Given the description of an element on the screen output the (x, y) to click on. 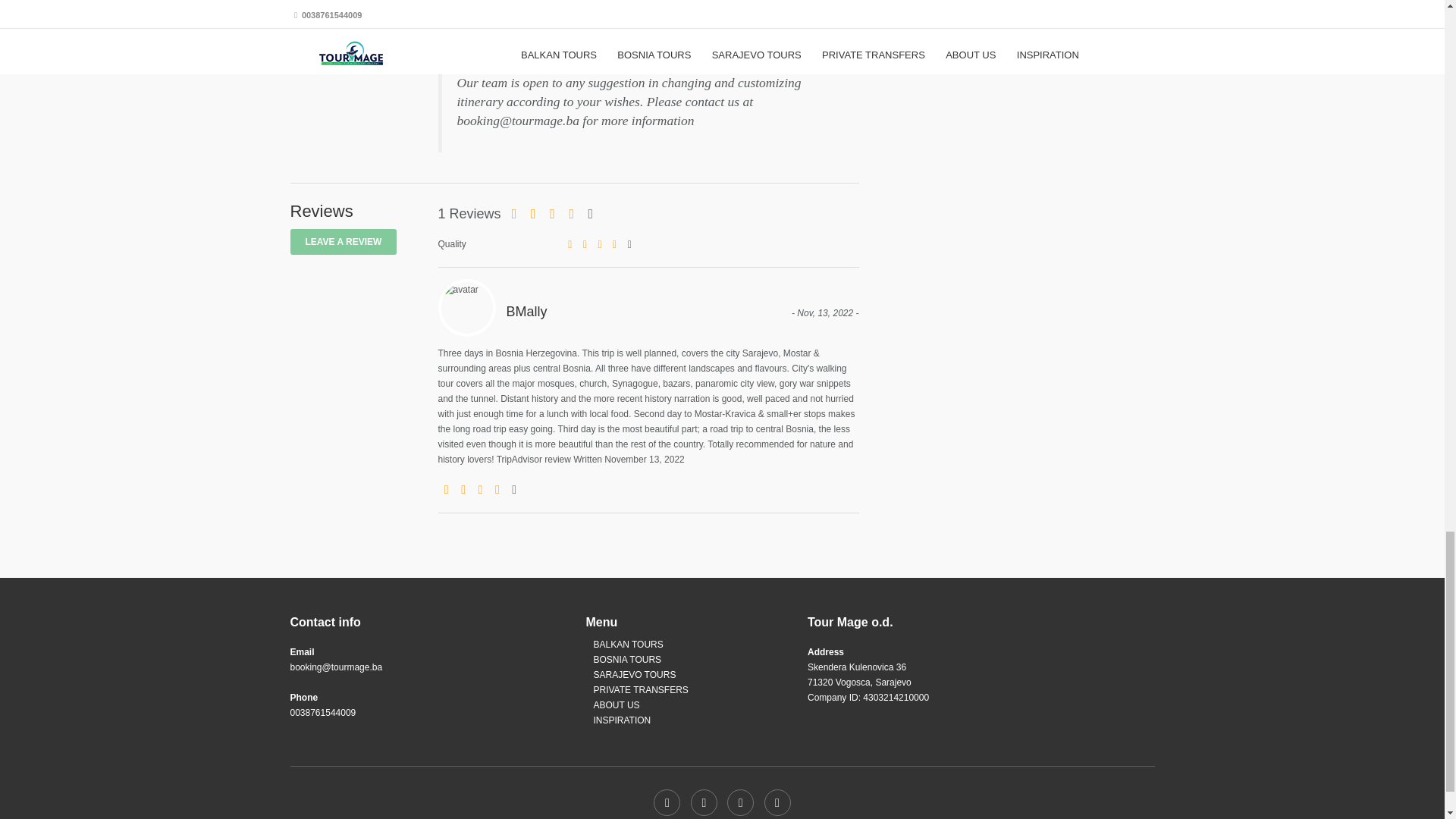
BALKAN TOURS (627, 644)
BOSNIA TOURS (626, 659)
INSPIRATION (621, 719)
SARAJEVO TOURS (633, 674)
LEAVE A REVIEW (342, 241)
ABOUT US (615, 705)
PRIVATE TRANSFERS (639, 689)
